Given the description of an element on the screen output the (x, y) to click on. 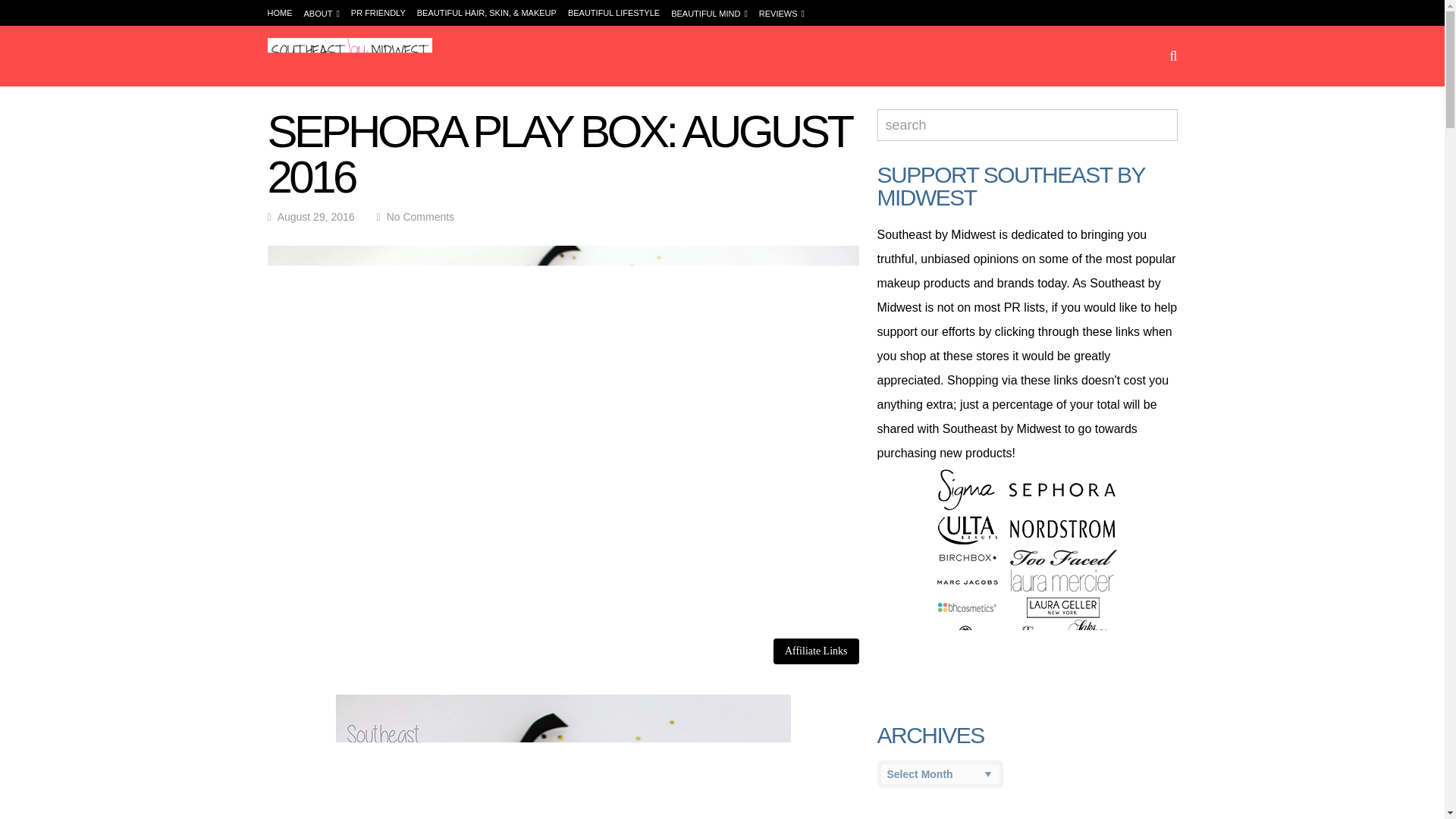
BEAUTIFUL LIFESTYLE (613, 13)
Southeast by Midwest (348, 71)
No Comments (420, 216)
Affiliate Links (816, 651)
PR FRIENDLY (378, 13)
ABOUT (320, 13)
BEAUTIFUL MIND (709, 13)
REVIEWS (781, 13)
HOME (279, 13)
